Given the description of an element on the screen output the (x, y) to click on. 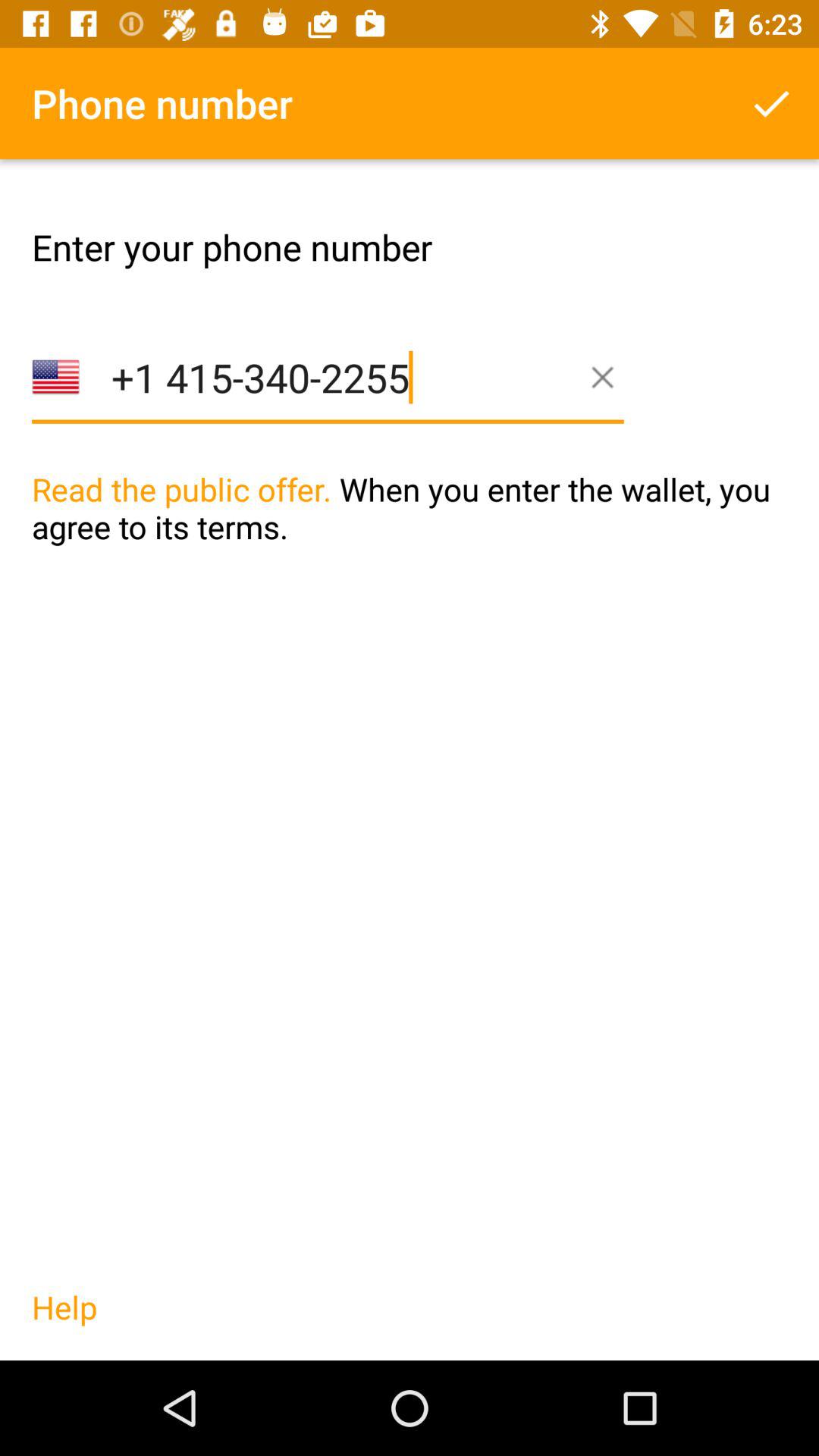
turn on the icon above help icon (409, 539)
